Given the description of an element on the screen output the (x, y) to click on. 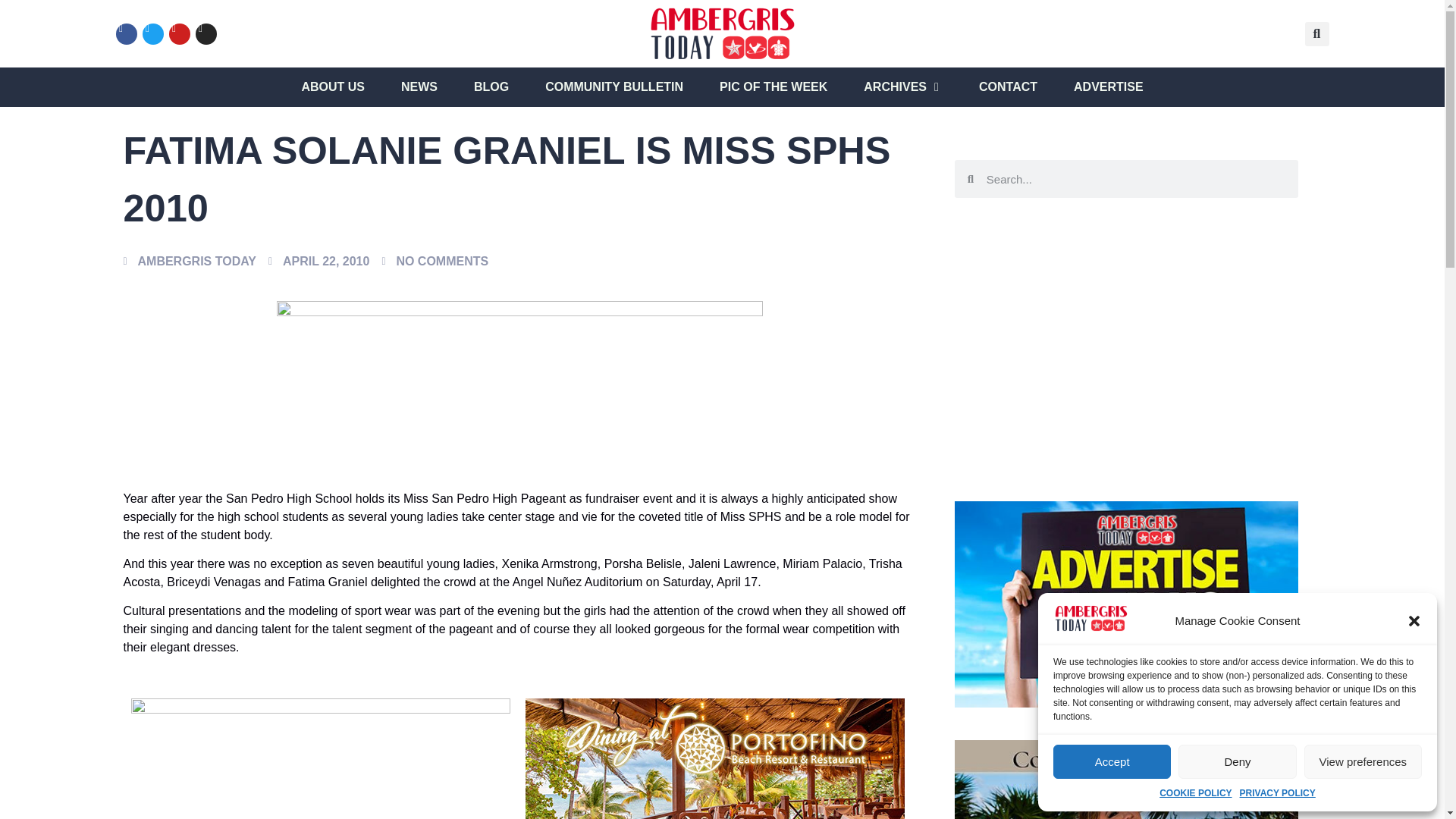
PRIVACY POLICY (1278, 793)
BLOG (491, 86)
CONTACT (1007, 86)
COOKIE POLICY (1194, 793)
PIC OF THE WEEK (773, 86)
AMBERGRIS TODAY (189, 261)
ARCHIVES (894, 86)
COMMUNITY BULLETIN (613, 86)
Deny (1236, 761)
ADVERTISE (1108, 86)
NEWS (419, 86)
Advertisement (1126, 334)
View preferences (1363, 761)
ABOUT US (333, 86)
Accept (1111, 761)
